Given the description of an element on the screen output the (x, y) to click on. 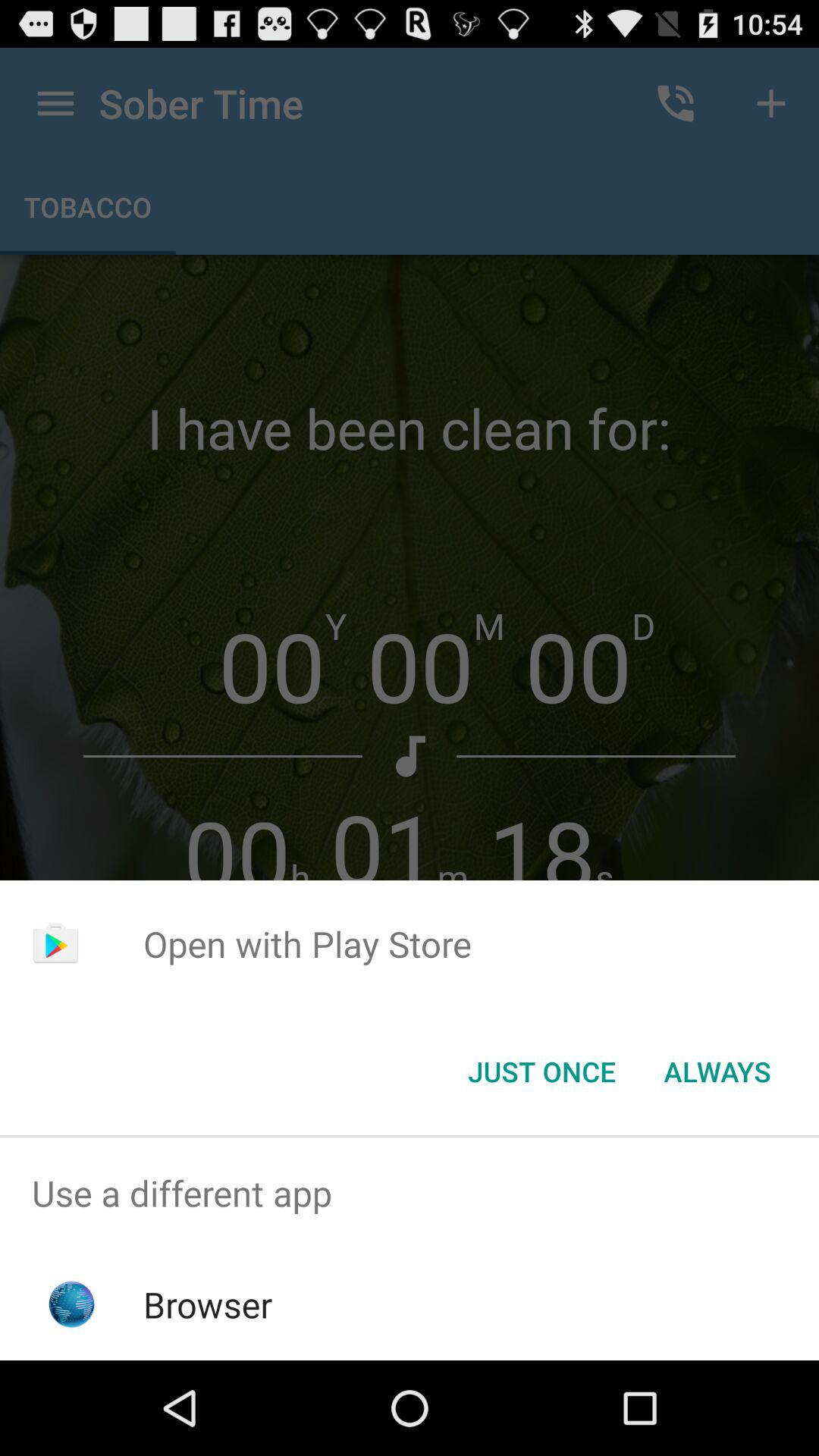
turn on the button to the left of always (541, 1071)
